Given the description of an element on the screen output the (x, y) to click on. 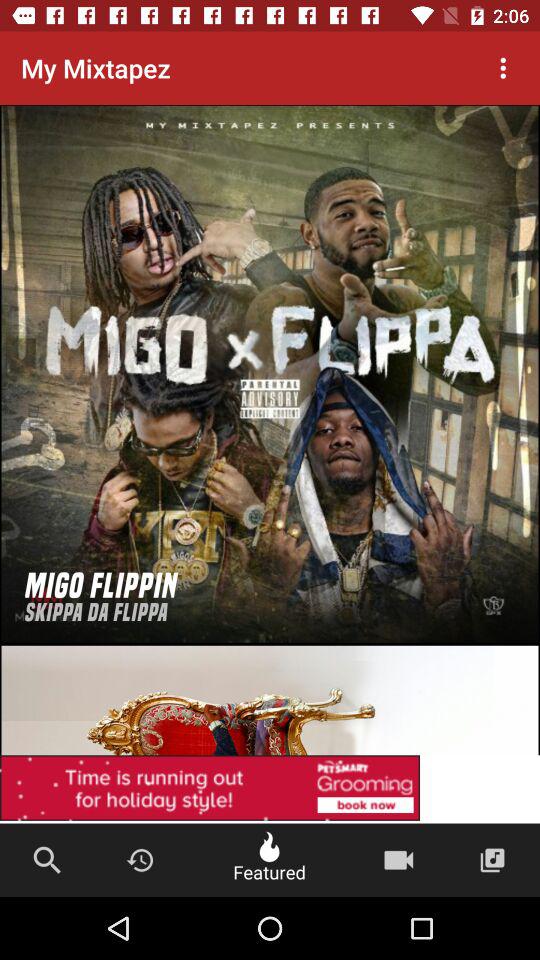
press the item next to the my mixtapez item (503, 67)
